Given the description of an element on the screen output the (x, y) to click on. 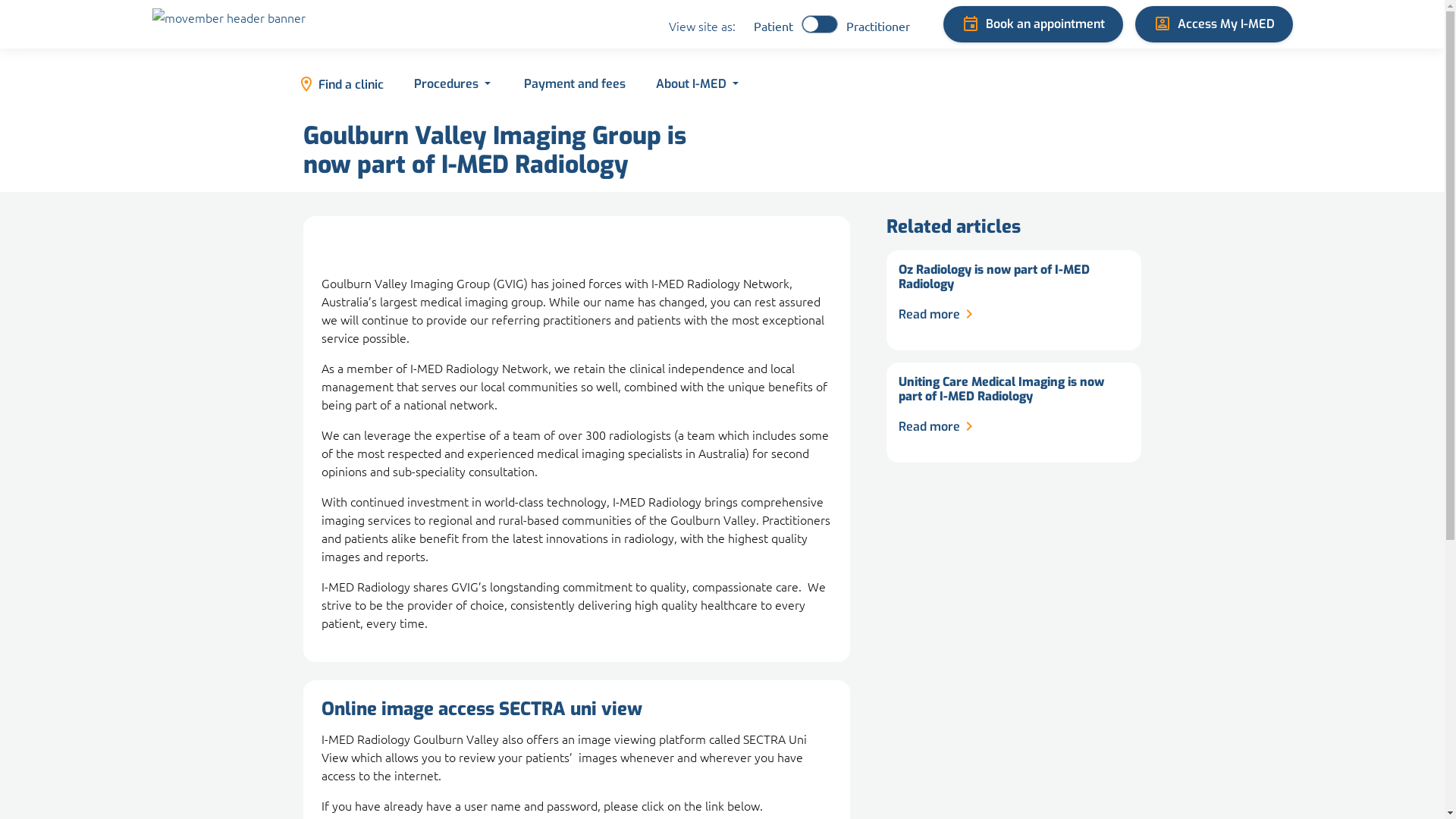
Find a clinic Element type: text (340, 84)
Access My I-MED Element type: text (1213, 24)
Procedures Element type: text (451, 84)
Payment and fees Element type: text (572, 84)
Read more Element type: text (938, 314)
Read more Element type: text (938, 426)
About I-MED Element type: text (696, 84)
Book an appointment Element type: text (1033, 24)
Access My I-MED Element type: text (1213, 24)
